Given the description of an element on the screen output the (x, y) to click on. 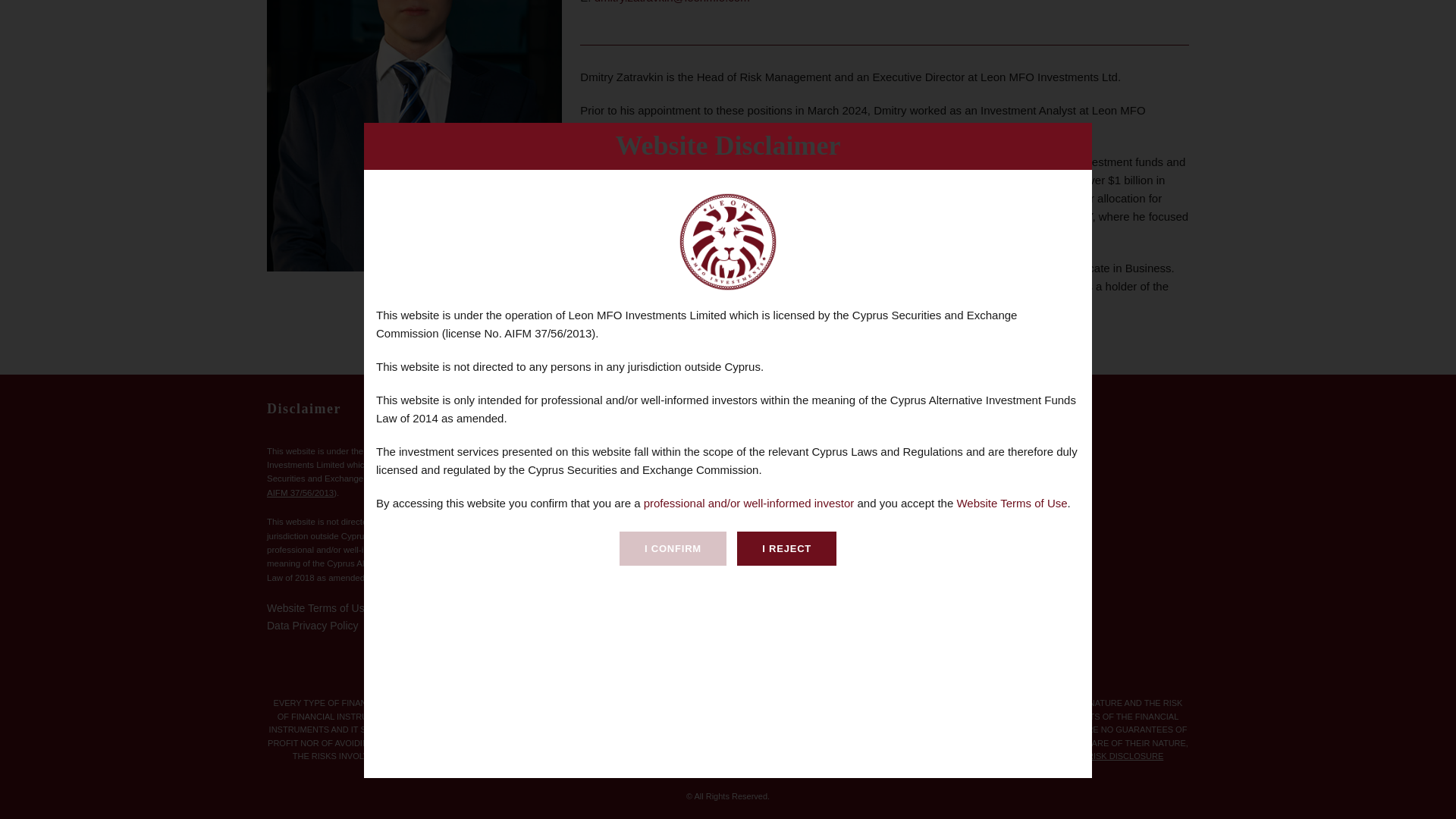
Dmitry-w (414, 135)
I confirm (673, 7)
I reject (785, 7)
